Given the description of an element on the screen output the (x, y) to click on. 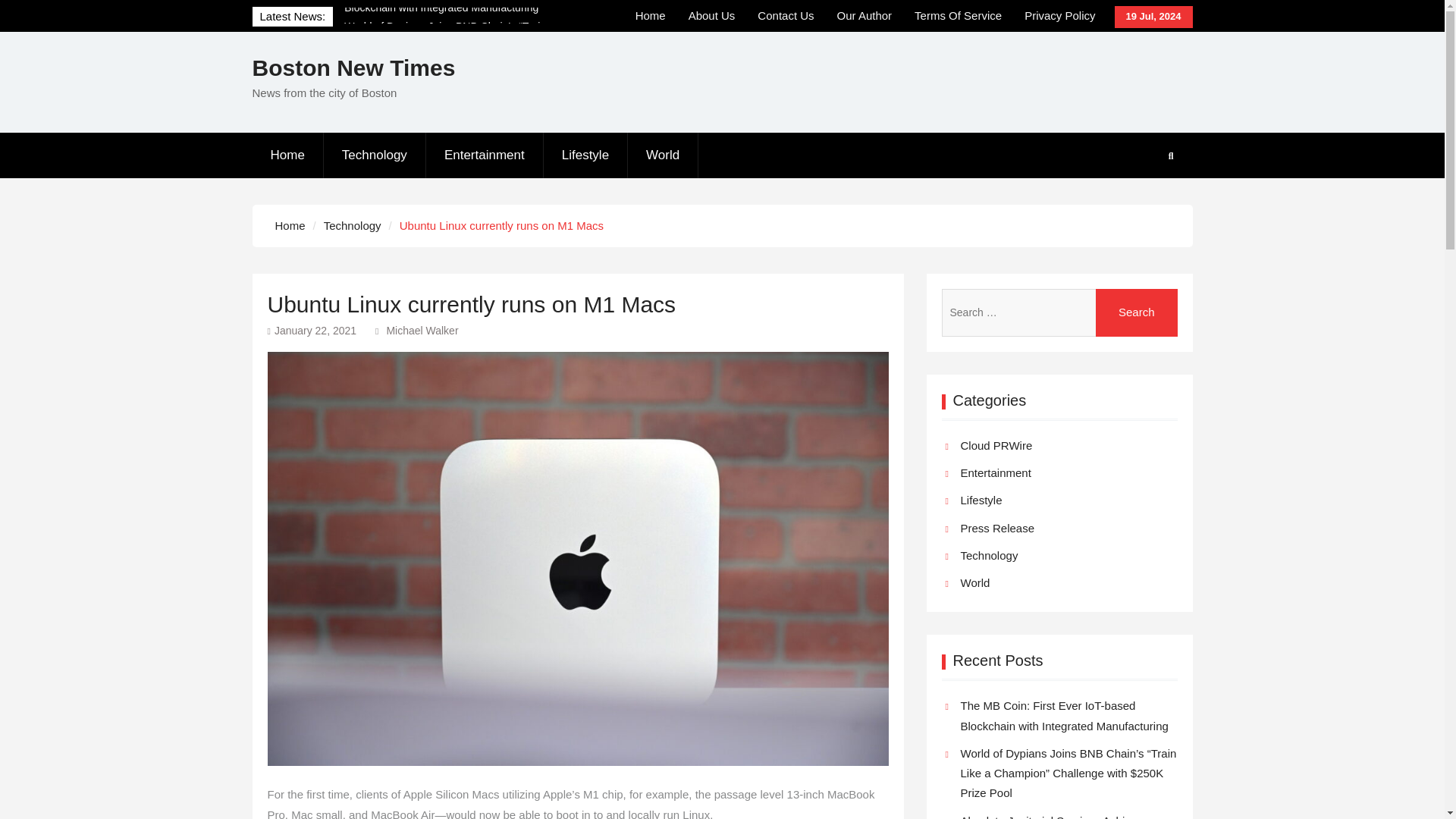
Technology (352, 224)
Entertainment (484, 155)
January 22, 2021 (315, 330)
Home (650, 15)
Search (1136, 313)
Search (1136, 313)
Our Author (864, 15)
Contact Us (785, 15)
Technology (374, 155)
Michael Walker (421, 330)
Lifestyle (585, 155)
Privacy Policy (1059, 15)
About Us (711, 15)
Boston New Times (352, 67)
